Given the description of an element on the screen output the (x, y) to click on. 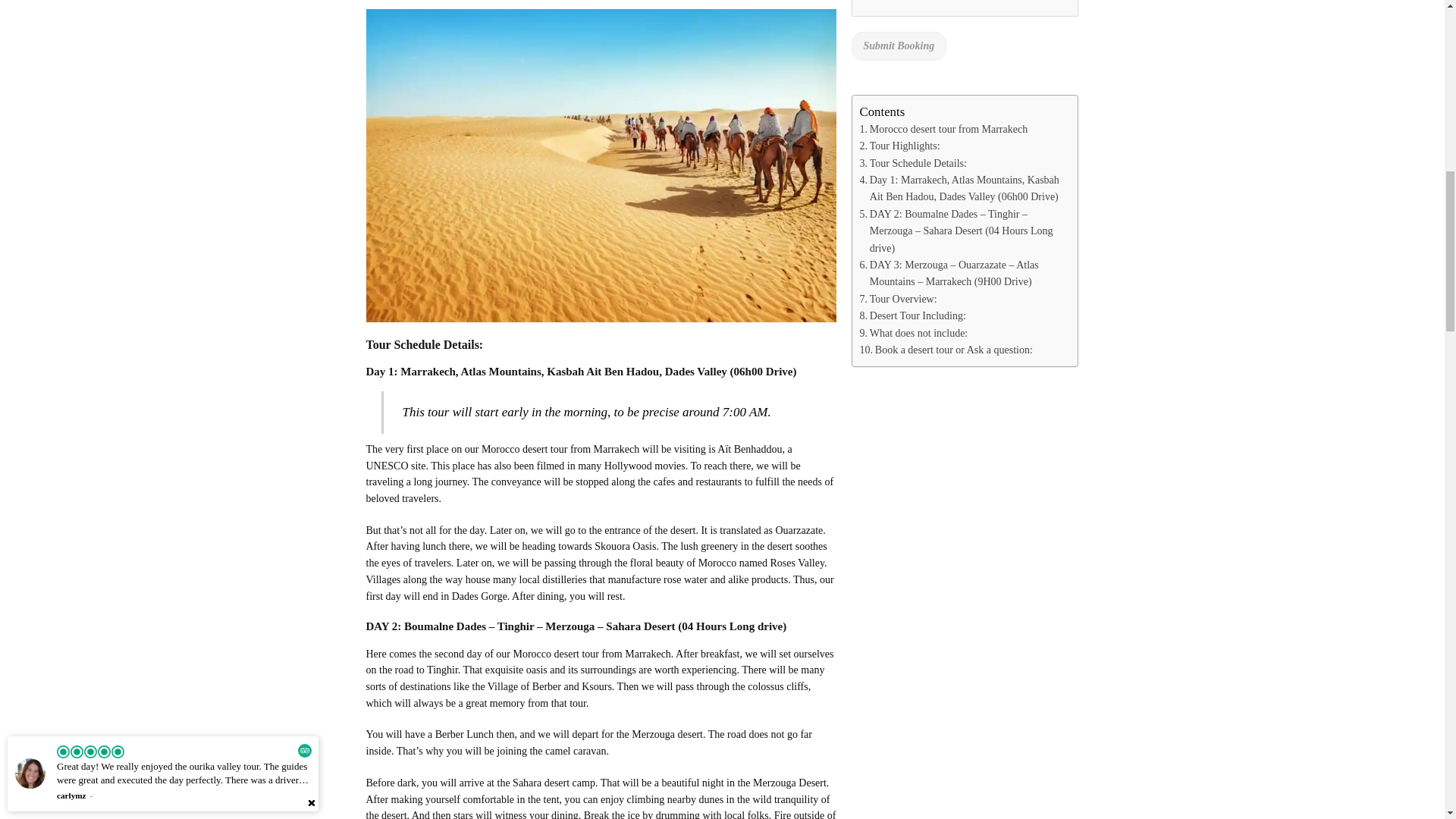
Tour Overview: (898, 299)
Morocco desert tour from Marrakech (943, 129)
Tour Highlights: (900, 146)
Tour Schedule Details: (913, 163)
Submit Booking (898, 45)
Desert Tour Including: (913, 315)
